Given the description of an element on the screen output the (x, y) to click on. 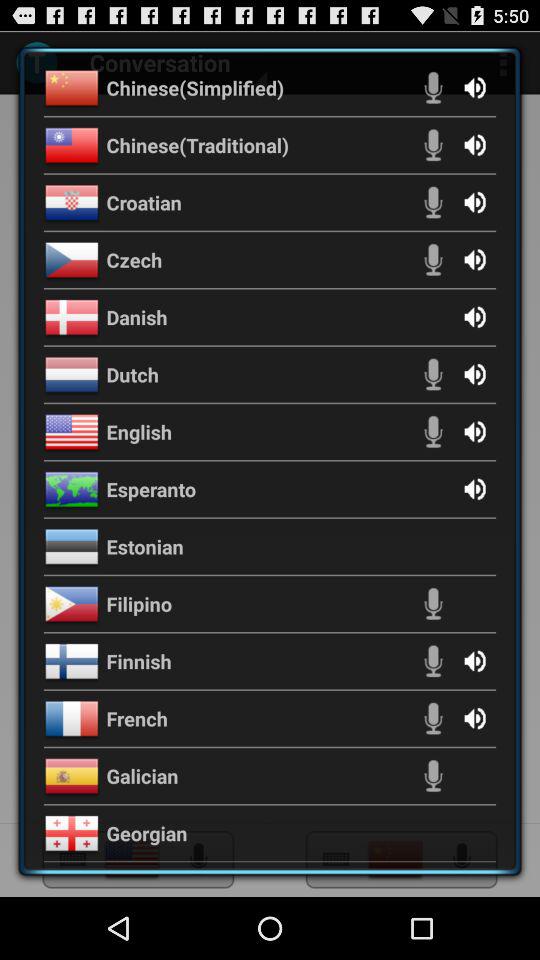
scroll until the filipino item (139, 603)
